Given the description of an element on the screen output the (x, y) to click on. 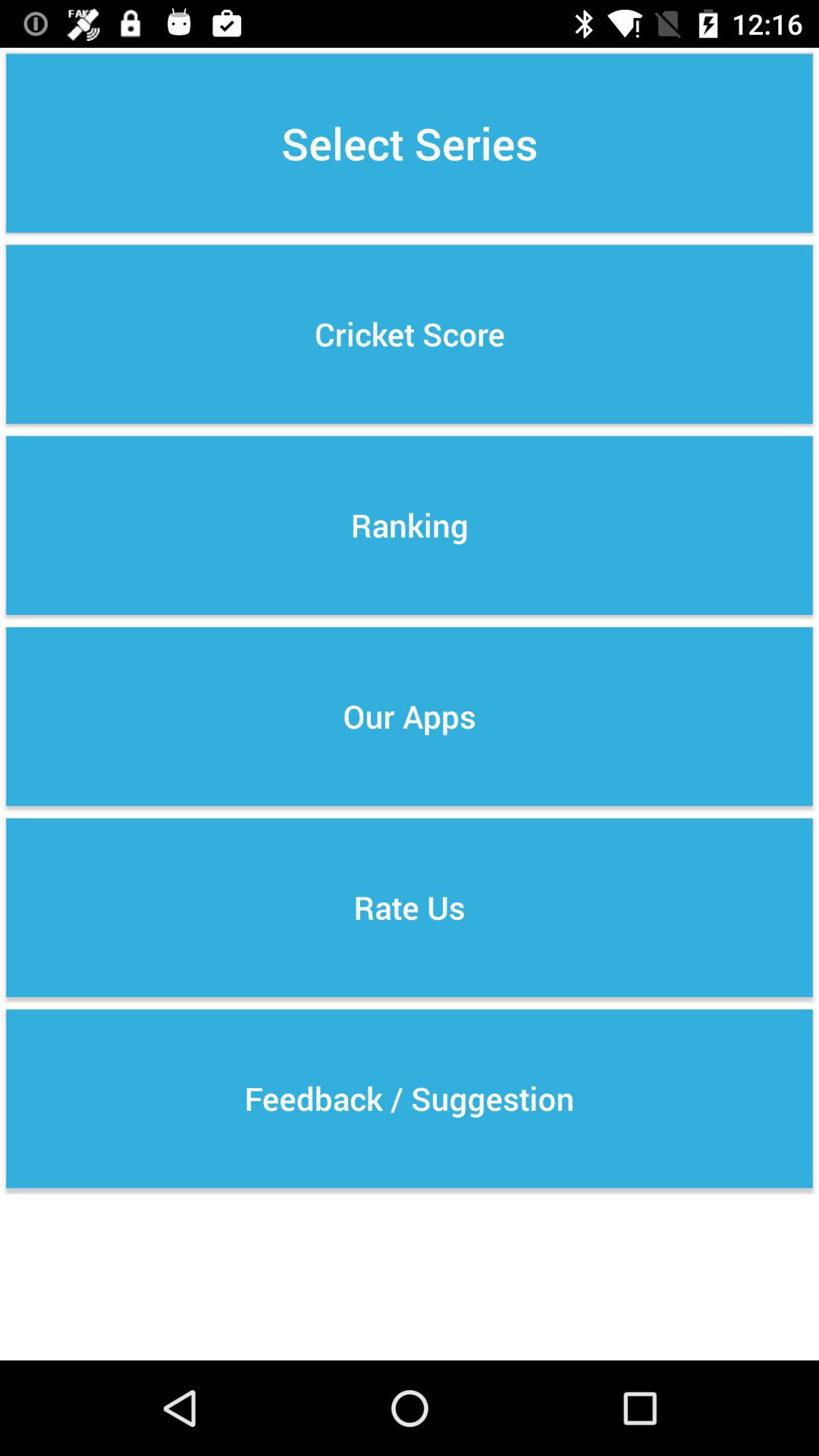
choose select series (409, 143)
